Given the description of an element on the screen output the (x, y) to click on. 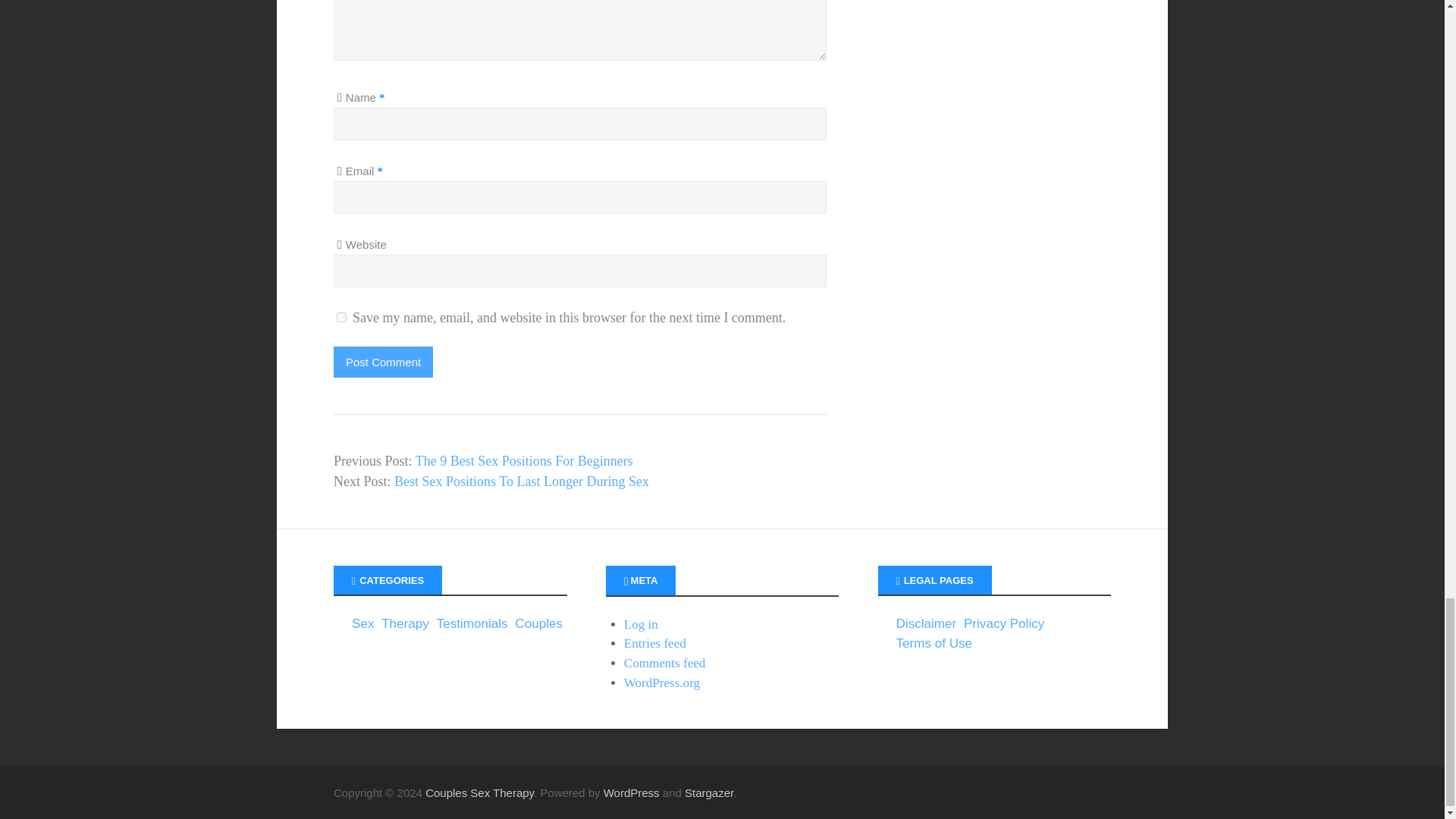
Best Sex Positions To Last Longer During Sex (521, 481)
yes (341, 317)
Post Comment (382, 361)
The 9 Best Sex Positions For Beginners (523, 460)
Post Comment (382, 361)
